Given the description of an element on the screen output the (x, y) to click on. 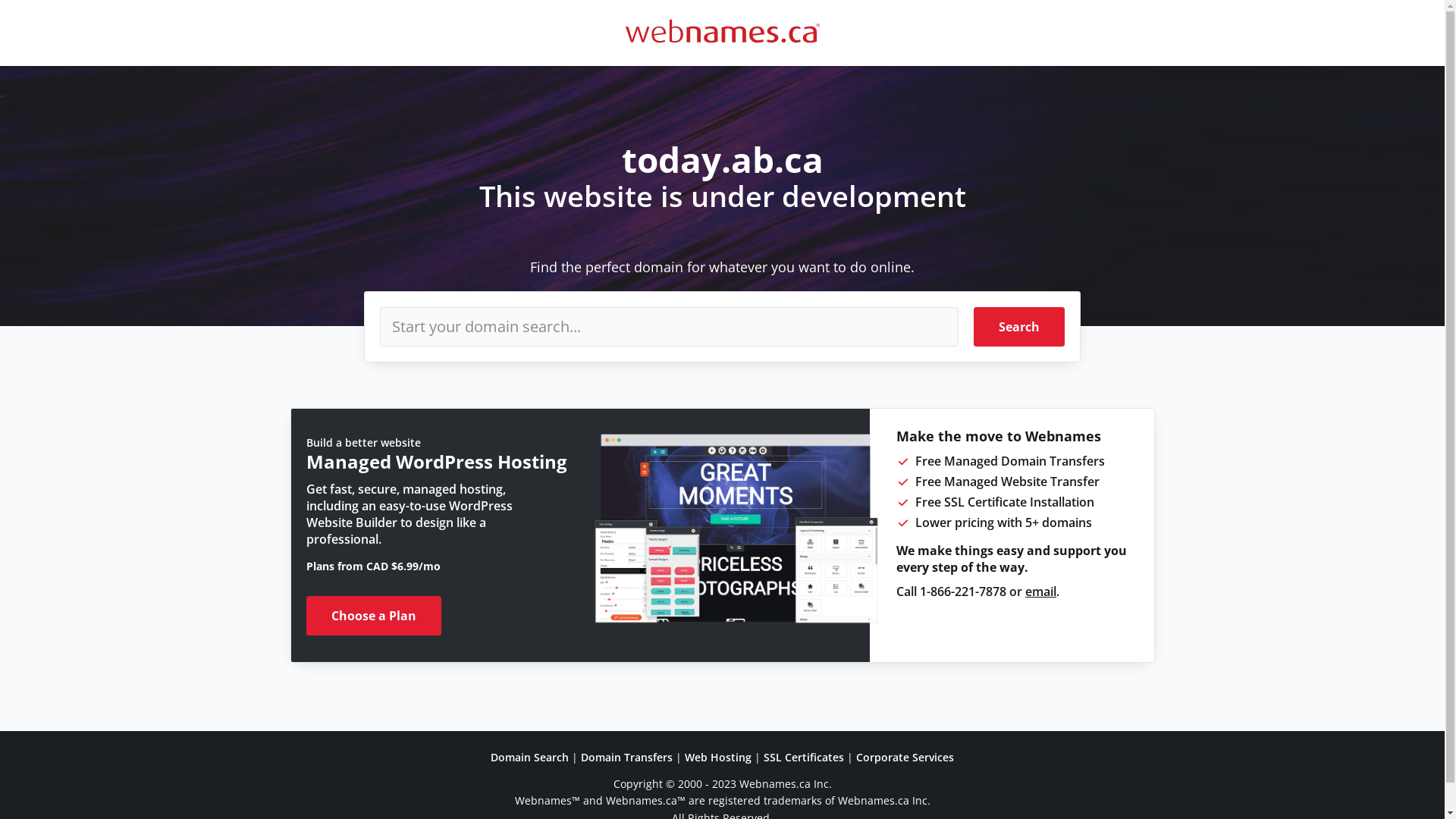
1-866-221-7878 Element type: text (962, 591)
Domain Transfers Element type: text (626, 756)
SSL Certificates Element type: text (803, 756)
Domain Search Element type: text (529, 756)
Search Element type: text (1018, 326)
Corporate Services Element type: text (904, 756)
email Element type: text (1040, 591)
Choose a Plan Element type: text (373, 615)
Web Hosting Element type: text (717, 756)
